Given the description of an element on the screen output the (x, y) to click on. 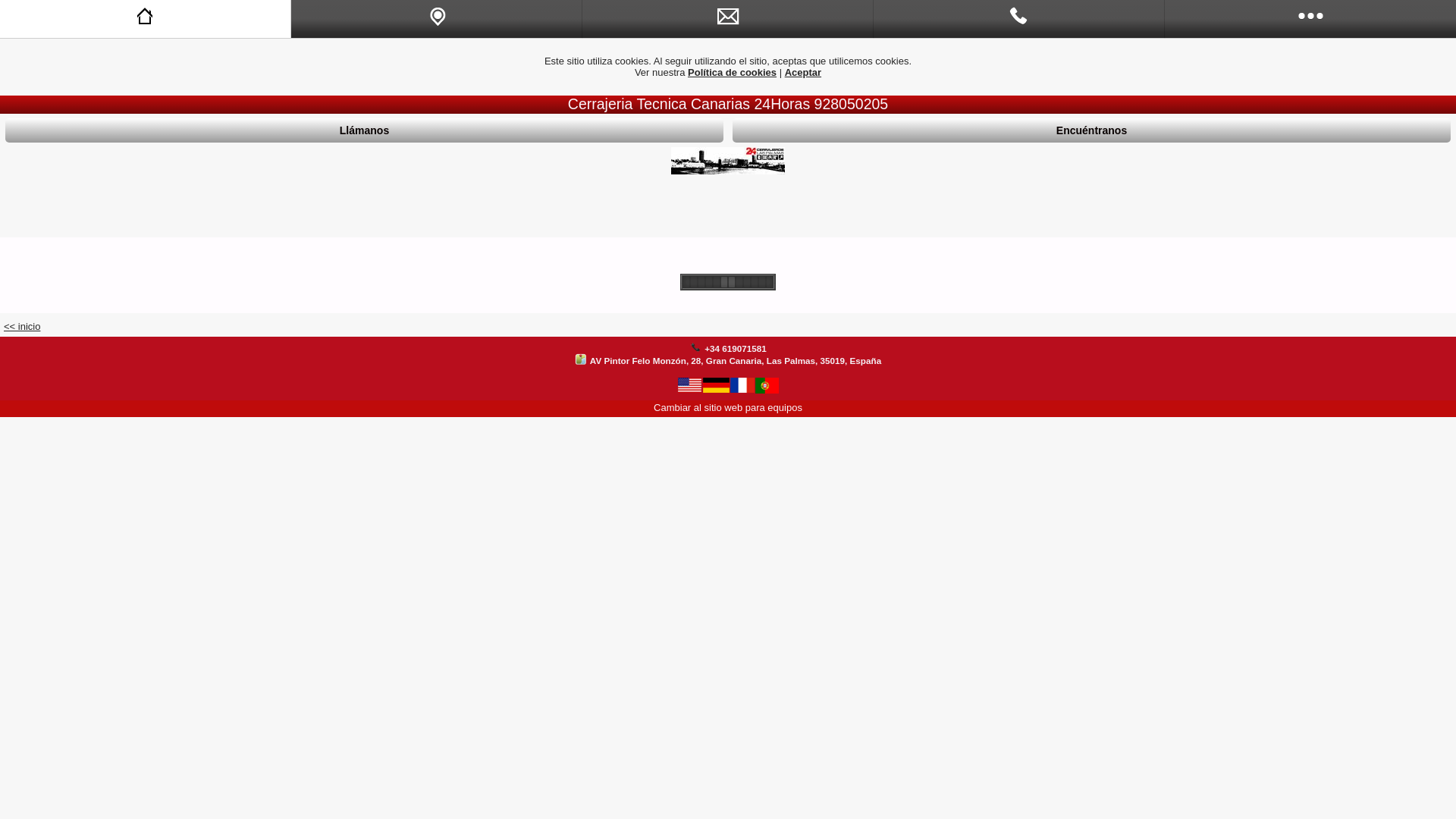
0 Element type: text (1018, 18)
Aceptar Element type: text (802, 72)
<< inicio Element type: text (21, 326)
Cambiar al sitio web para equipos Element type: text (727, 407)
+34 619071581 Element type: text (735, 348)
